Given the description of an element on the screen output the (x, y) to click on. 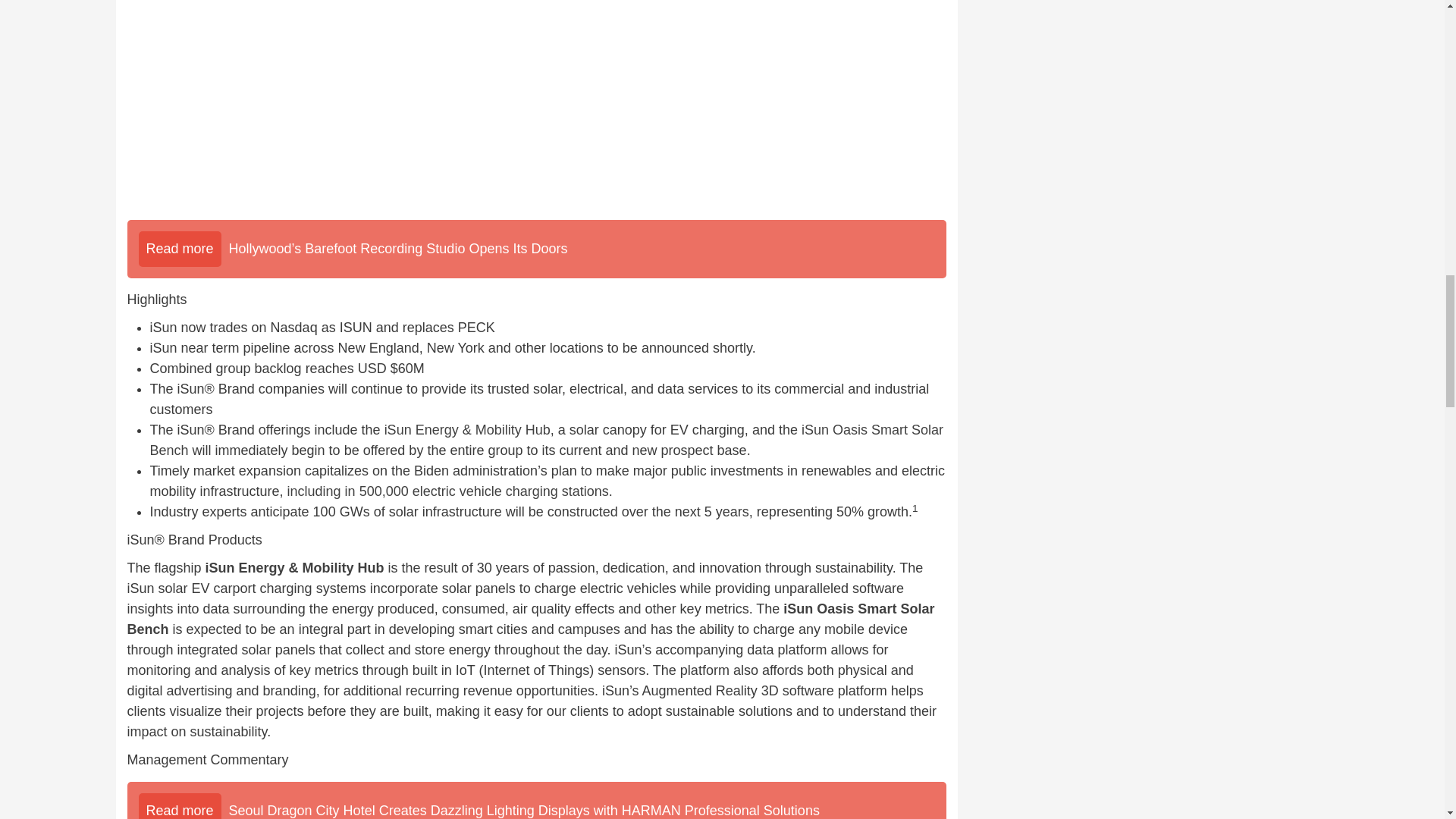
iSun Oasis Smart Solar Bench (531, 619)
iSun Oasis Smart Solar Bench (546, 439)
including in 500,000 electric vehicle charging stations (447, 491)
